Given the description of an element on the screen output the (x, y) to click on. 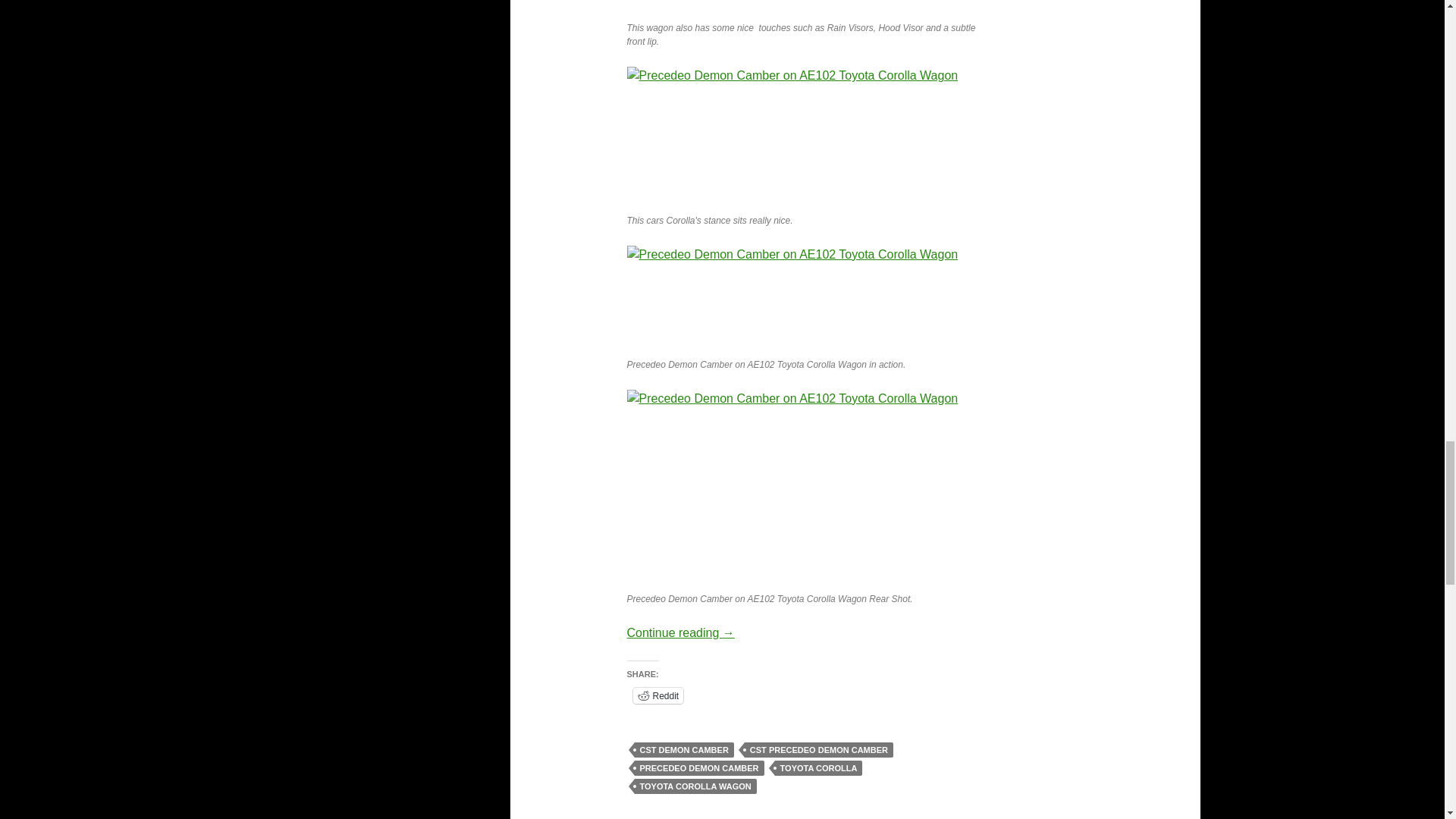
CST DEMON CAMBER (683, 749)
Click to share on Reddit (656, 695)
Reddit (656, 695)
